Given the description of an element on the screen output the (x, y) to click on. 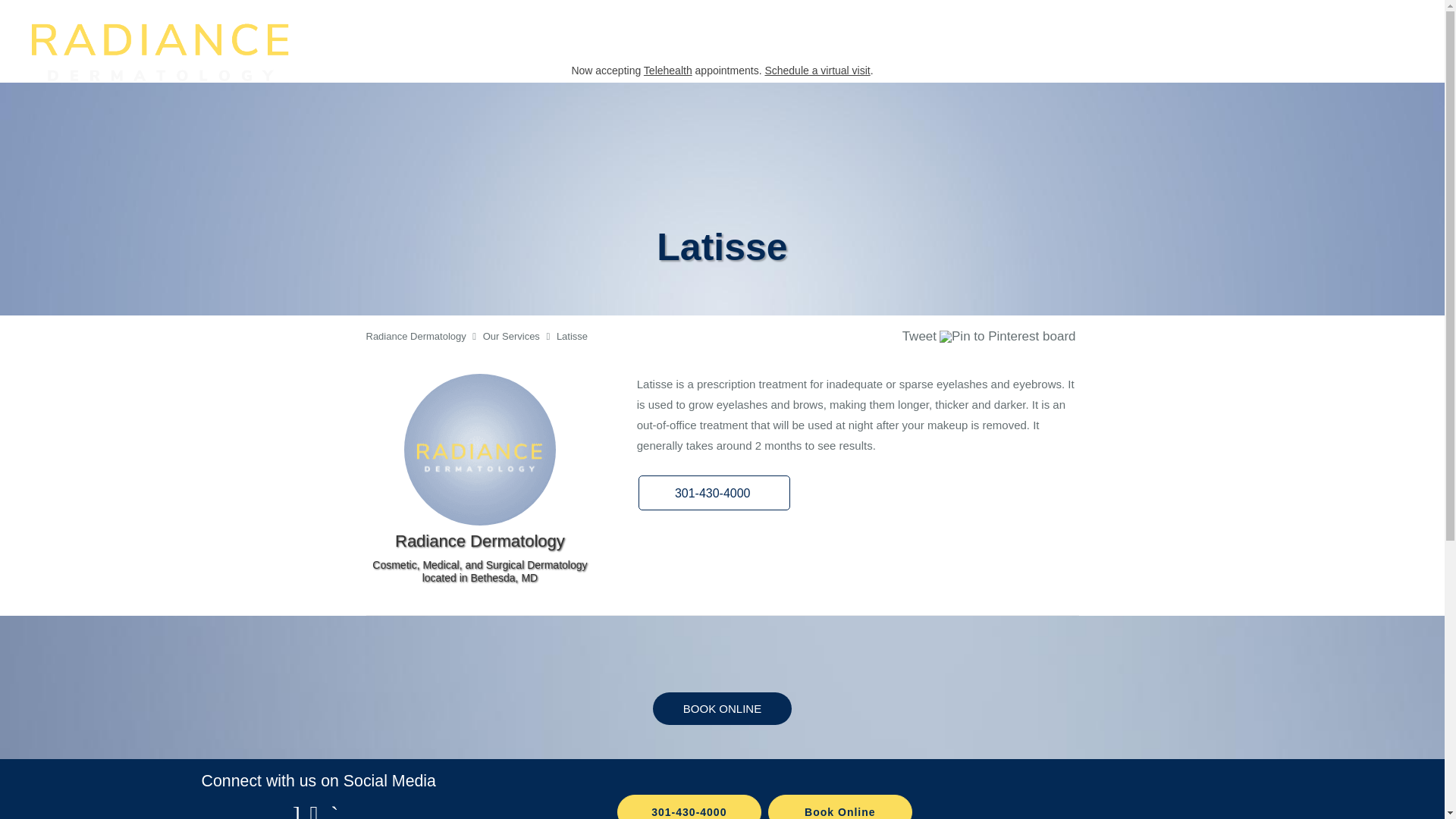
Telehealth (668, 70)
Facebook social button (843, 338)
Skip to main content (74, 7)
Schedule a virtual visit (816, 70)
